Given the description of an element on the screen output the (x, y) to click on. 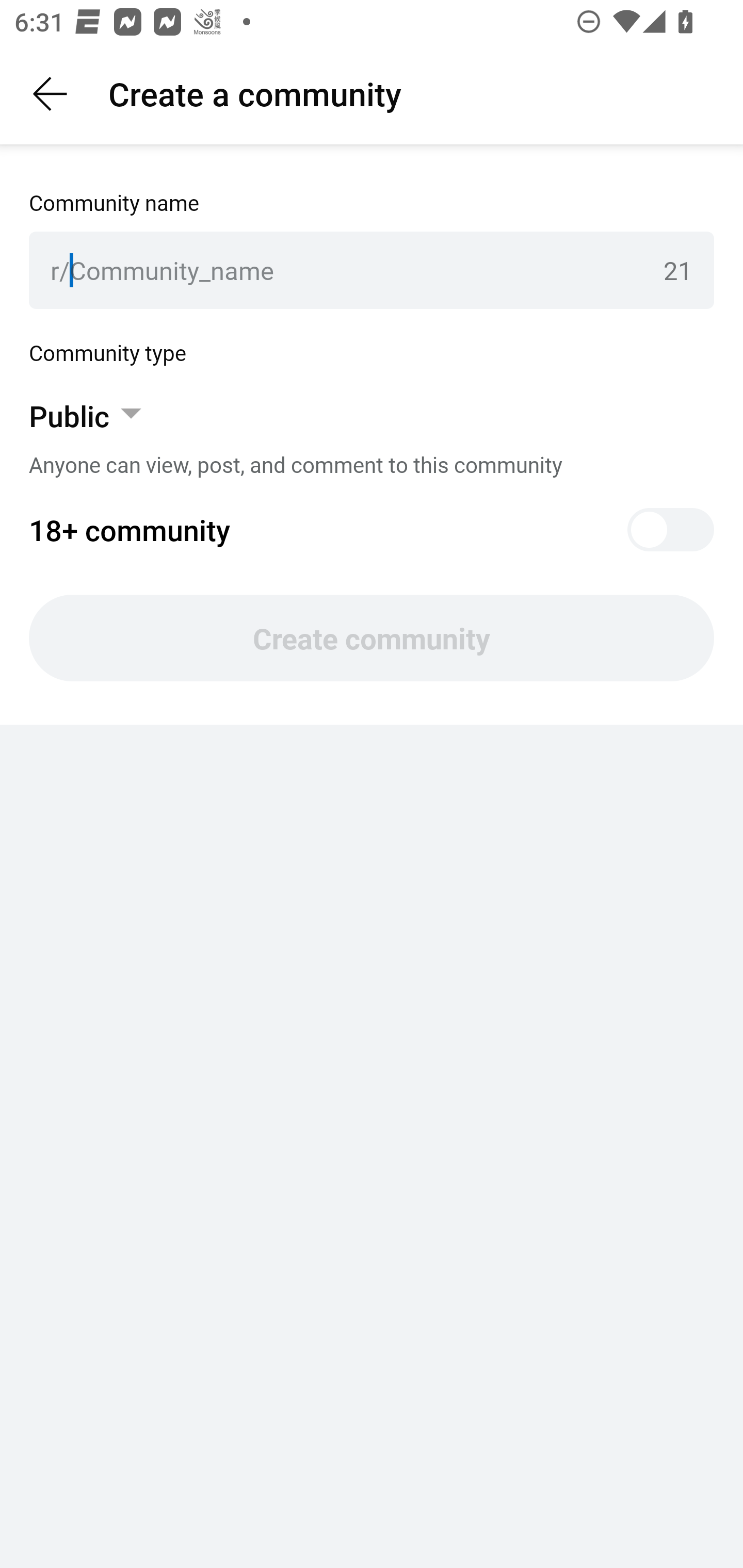
Community_name (359, 270)
18+ community (371, 529)
Create community (371, 638)
